Given the description of an element on the screen output the (x, y) to click on. 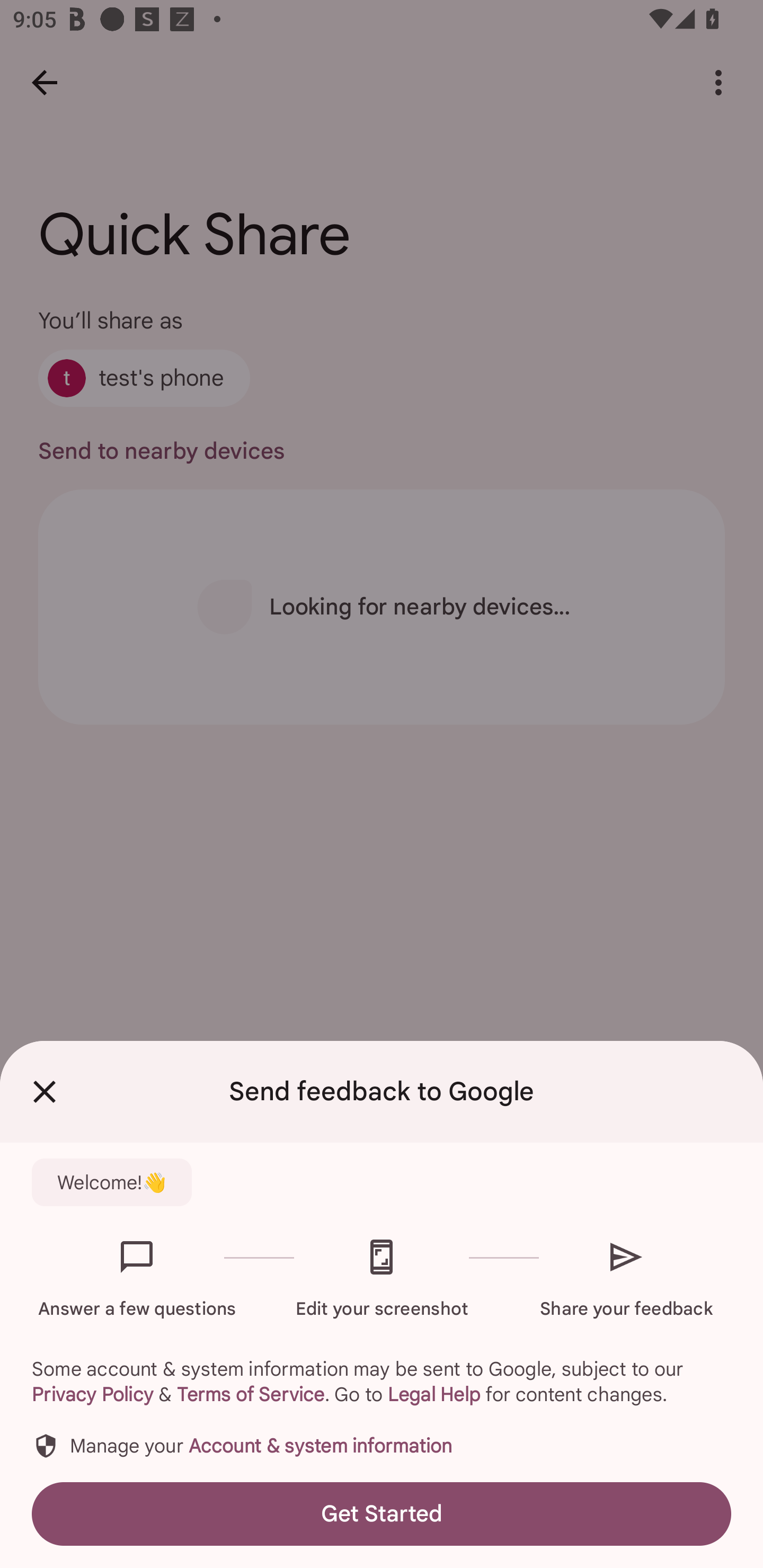
Close Feedback (44, 1091)
Get Started (381, 1513)
